Given the description of an element on the screen output the (x, y) to click on. 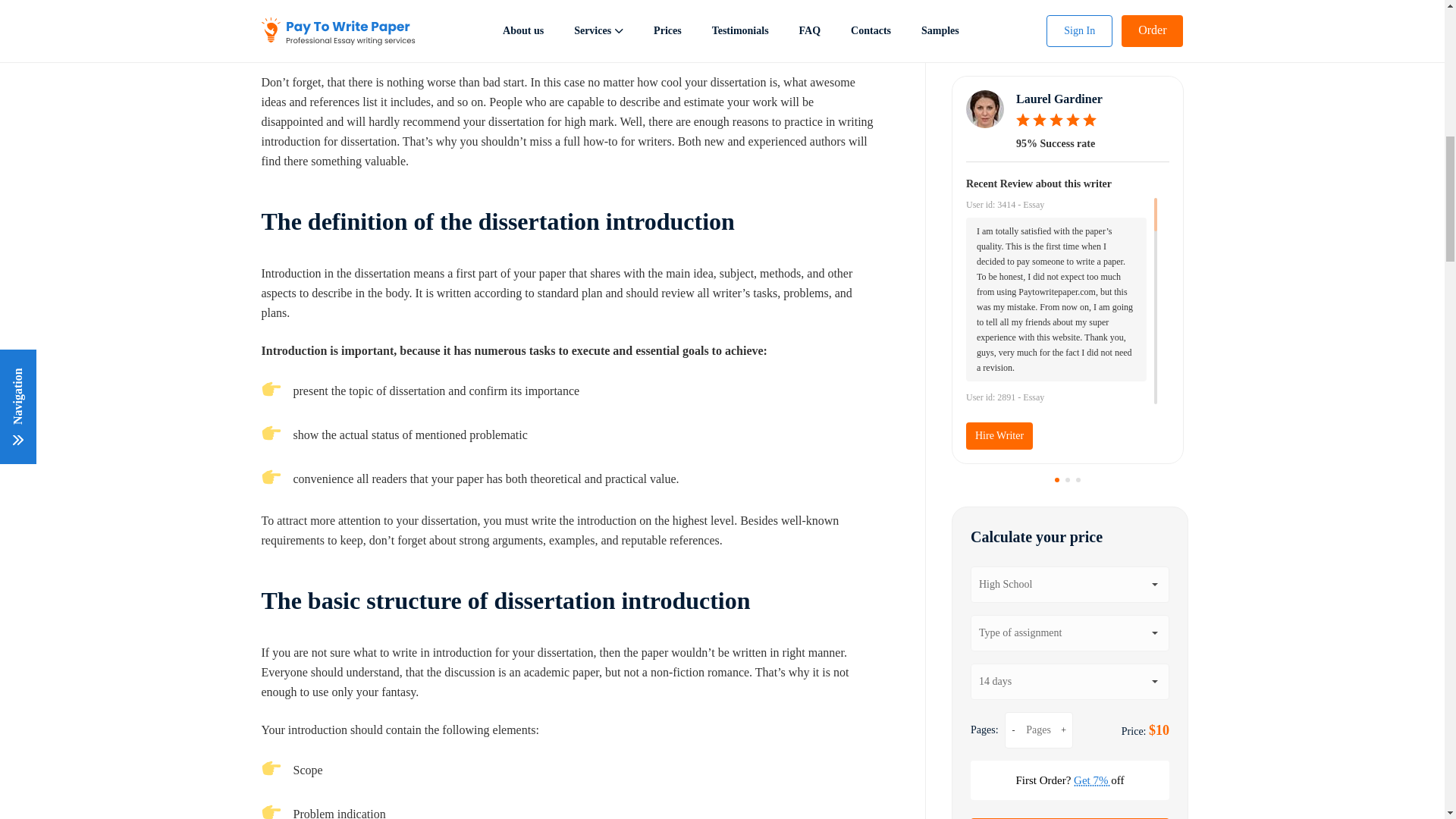
Order now  (1070, 80)
